Given the description of an element on the screen output the (x, y) to click on. 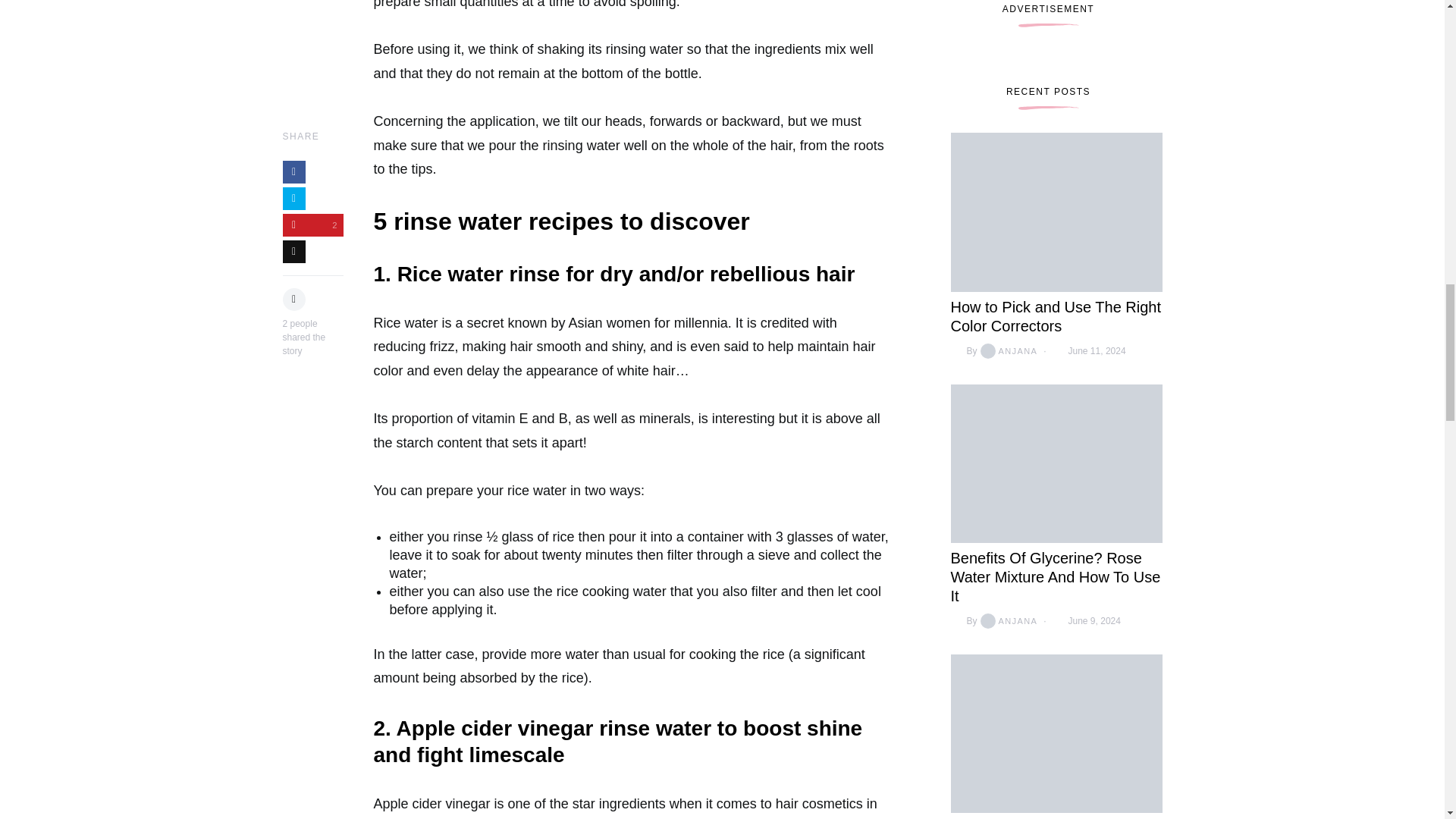
View all posts by Anjana (1007, 620)
Benefits Of Glycerine? Rose Water Mixture And How To Use It (1055, 576)
View all posts by Anjana (1007, 351)
How to Pick and Use The Right Color Correctors (1055, 316)
